Given the description of an element on the screen output the (x, y) to click on. 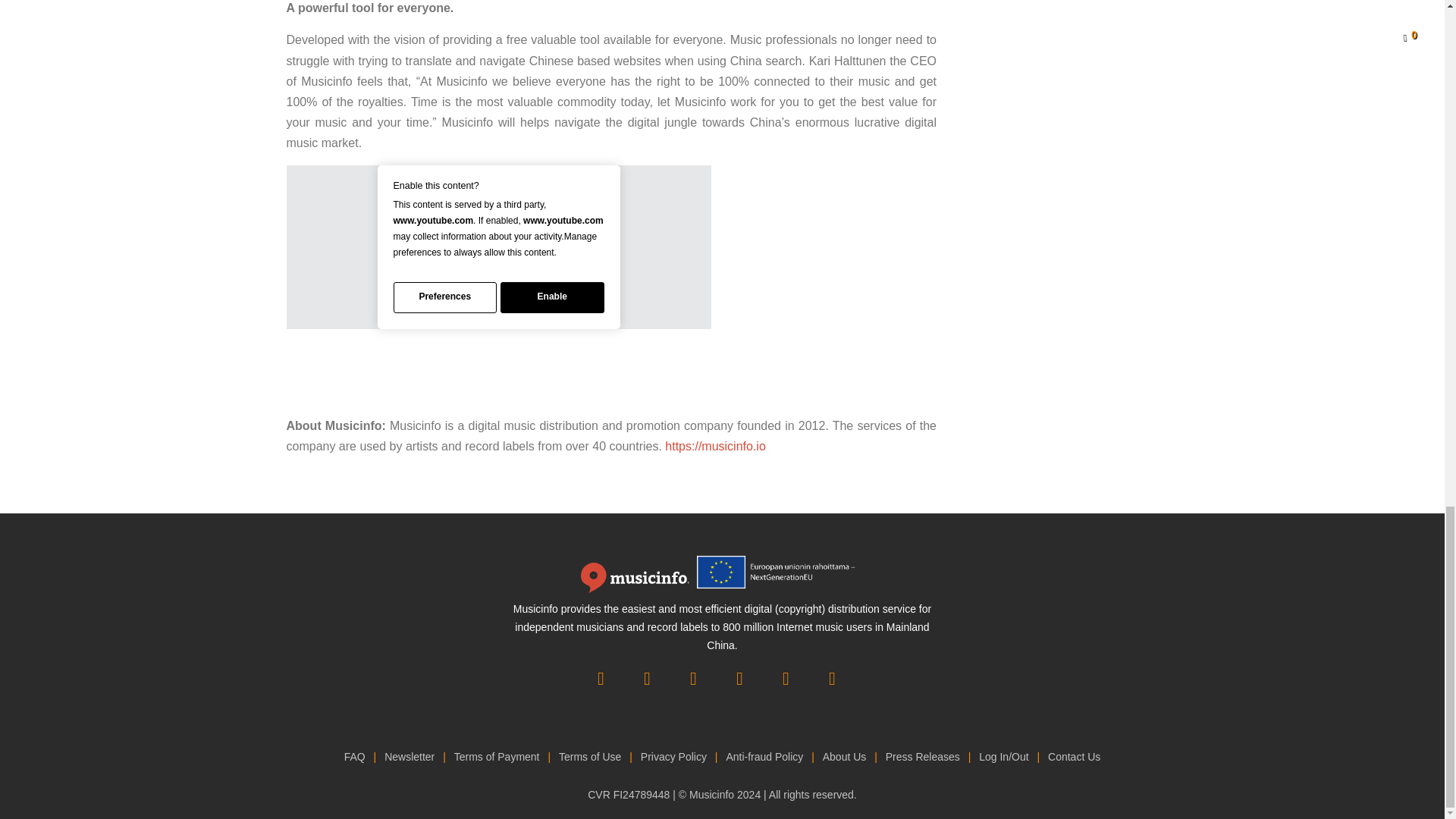
Twitter (694, 679)
Linkedin (785, 679)
Preferences (444, 296)
Instagram (645, 679)
Youtube (739, 679)
Anti-fraud Policy (764, 756)
Facebook (830, 679)
Enable (552, 296)
Facebook (600, 679)
